Given the description of an element on the screen output the (x, y) to click on. 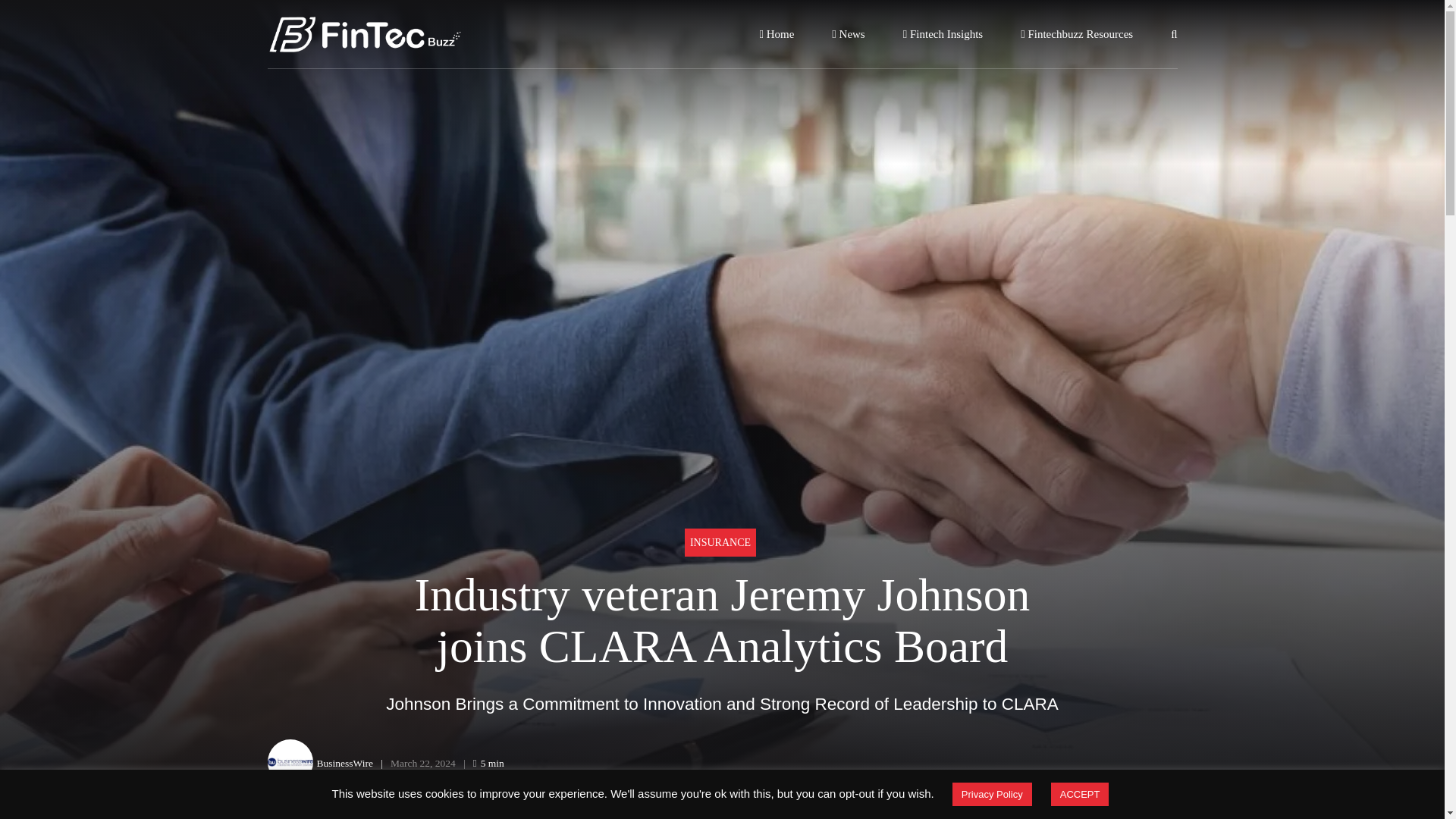
INSURANCE (719, 542)
Fintech Insights (942, 33)
Fintechbuzz Resources (1076, 33)
BusinessWire (344, 763)
